Given the description of an element on the screen output the (x, y) to click on. 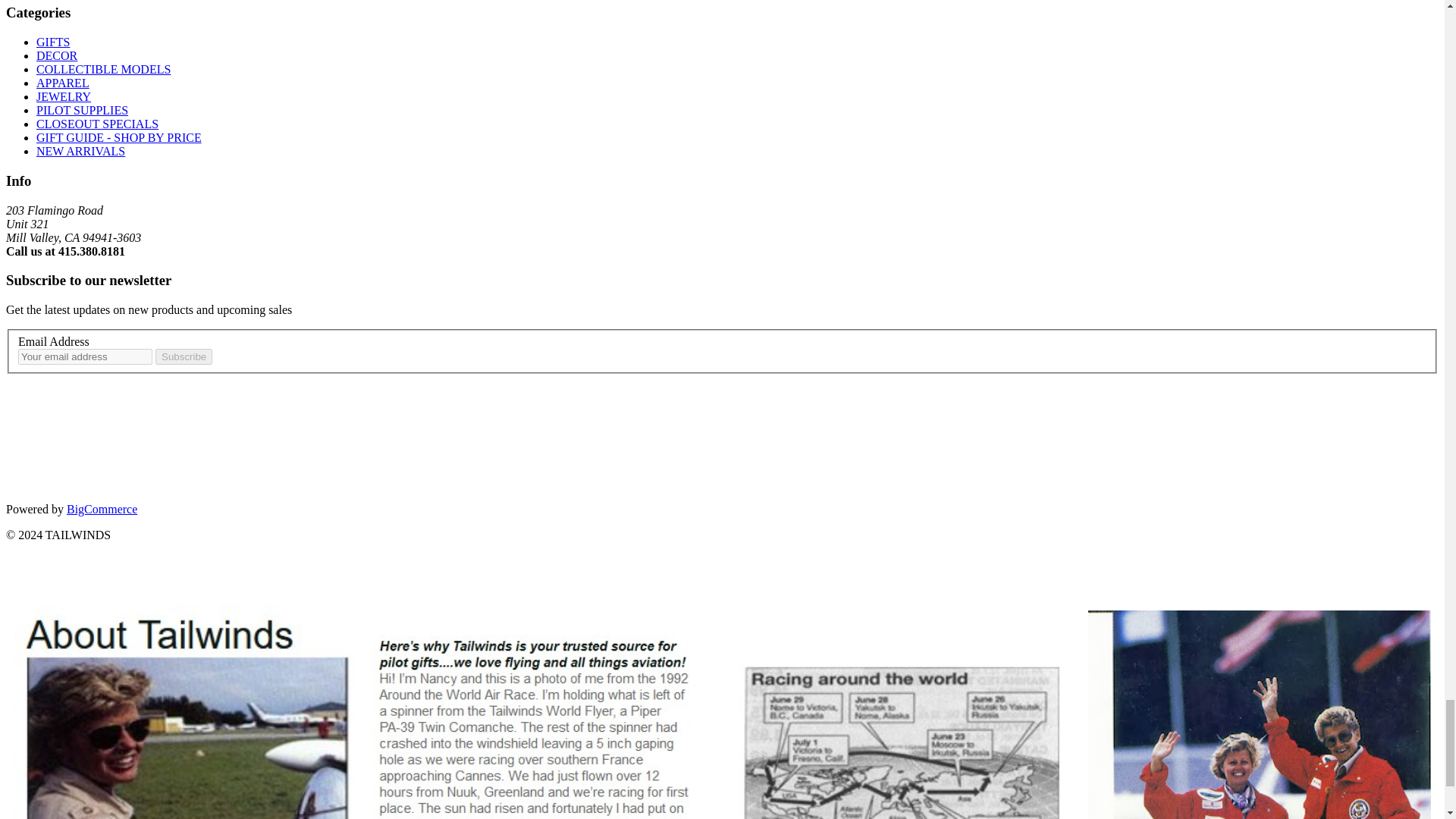
Subscribe (183, 356)
